Given the description of an element on the screen output the (x, y) to click on. 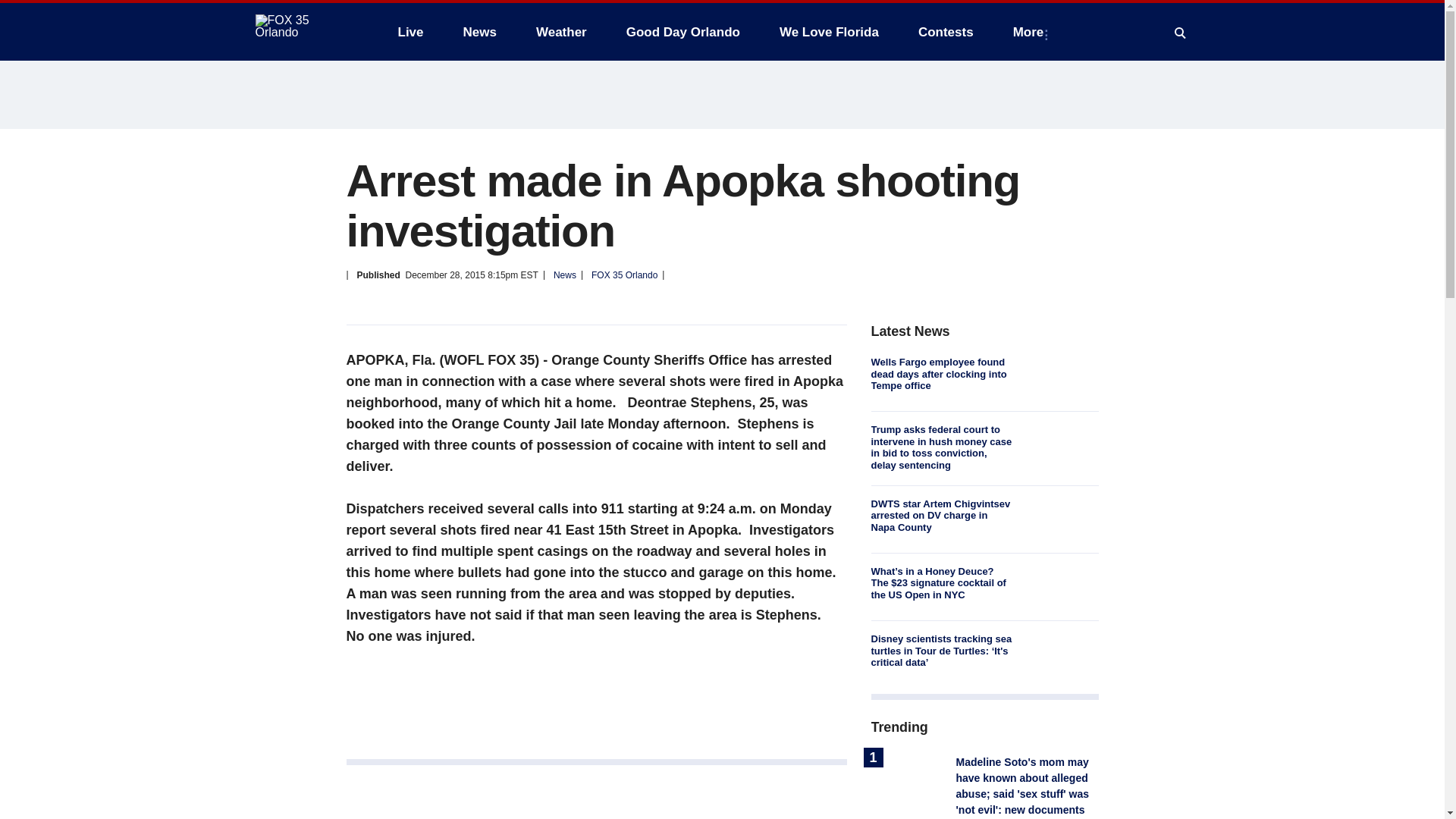
Contests (945, 32)
Live (410, 32)
We Love Florida (829, 32)
Weather (561, 32)
News (479, 32)
More (1031, 32)
Good Day Orlando (683, 32)
